Given the description of an element on the screen output the (x, y) to click on. 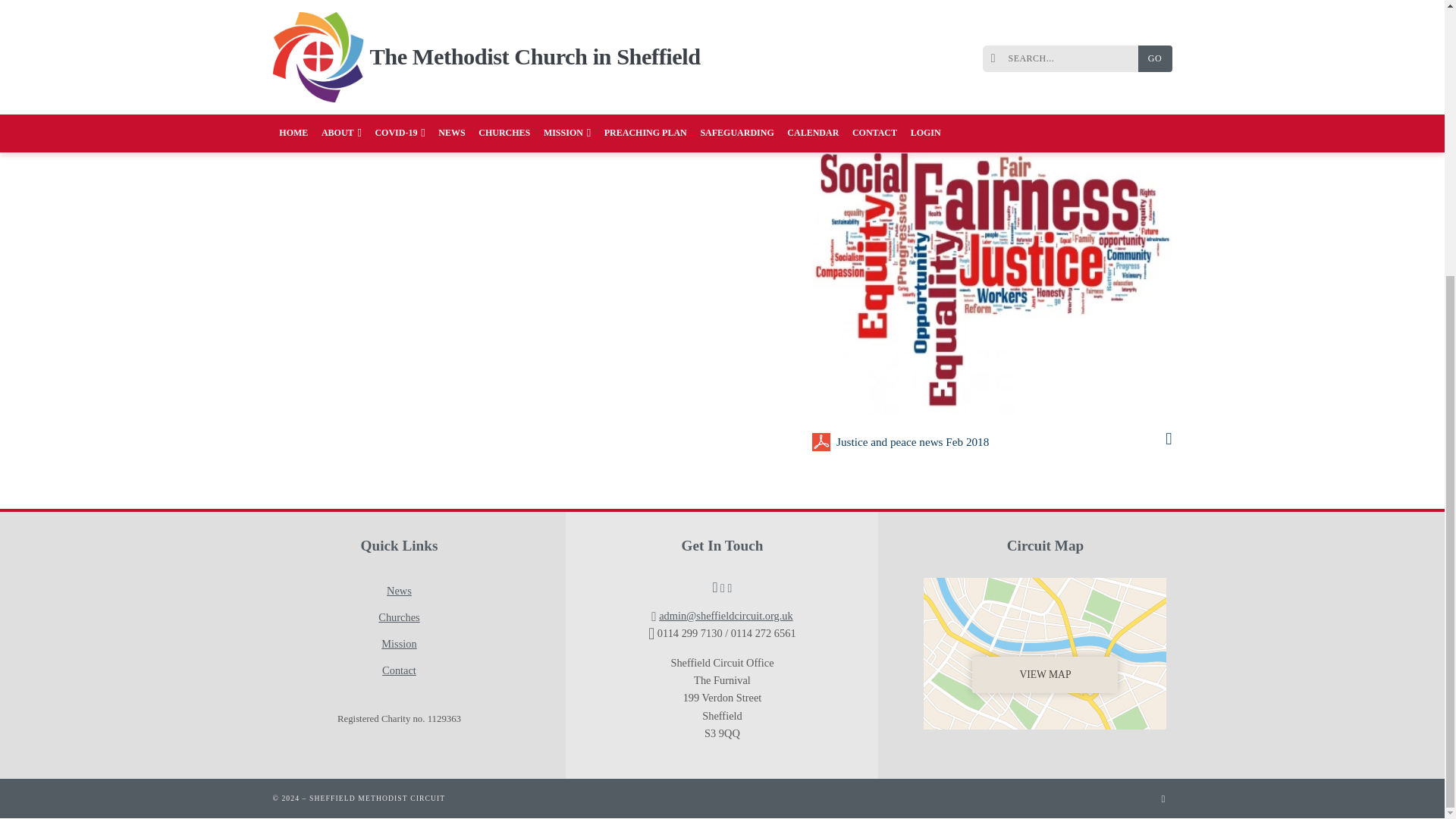
Justice and peace news Feb 2018 (1000, 442)
Churches (398, 617)
Download: Justice and peace news Feb 2018 (1000, 442)
News (398, 591)
